Given the description of an element on the screen output the (x, y) to click on. 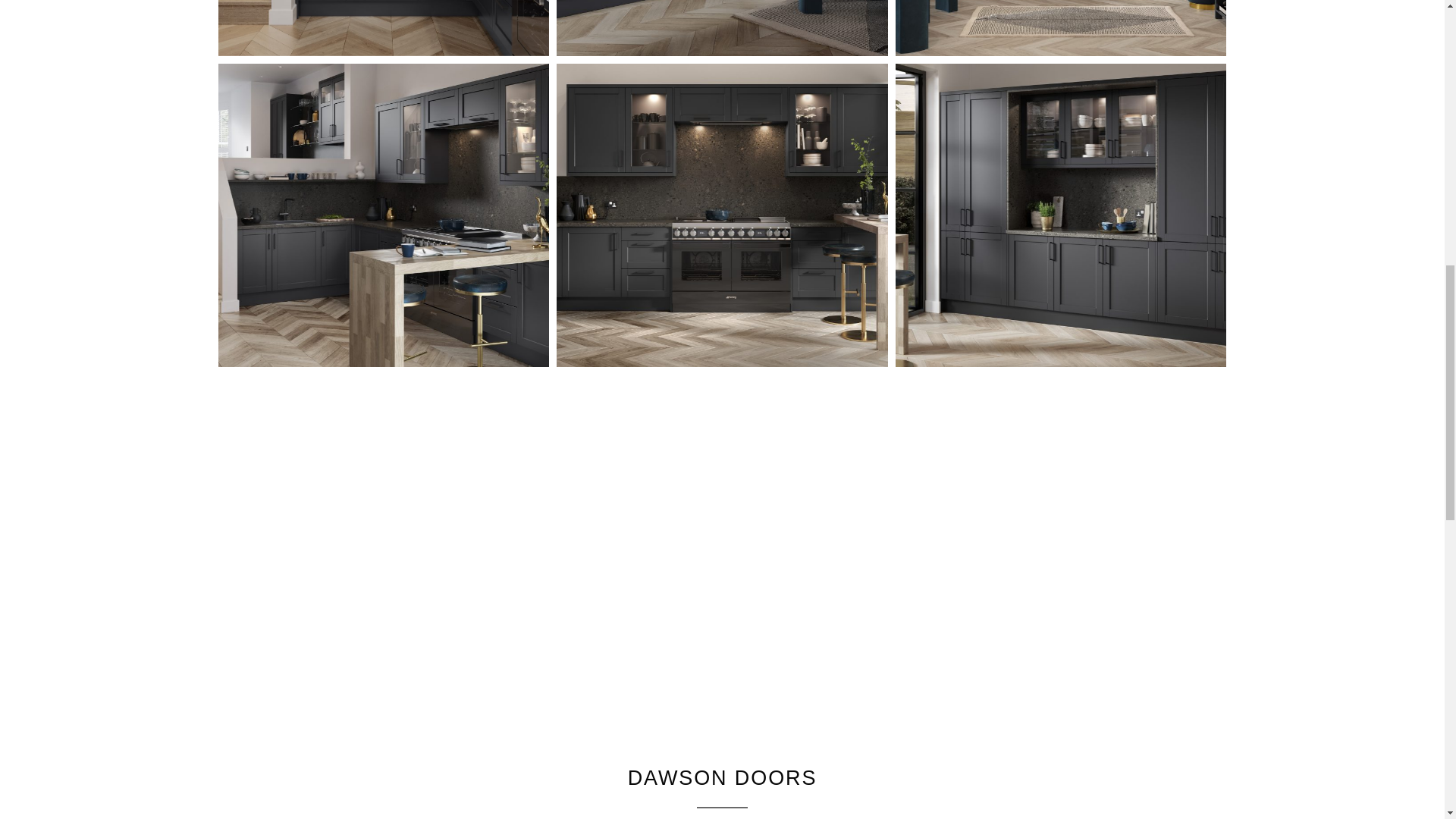
Fusion Studio TIFF File (722, 214)
